Given the description of an element on the screen output the (x, y) to click on. 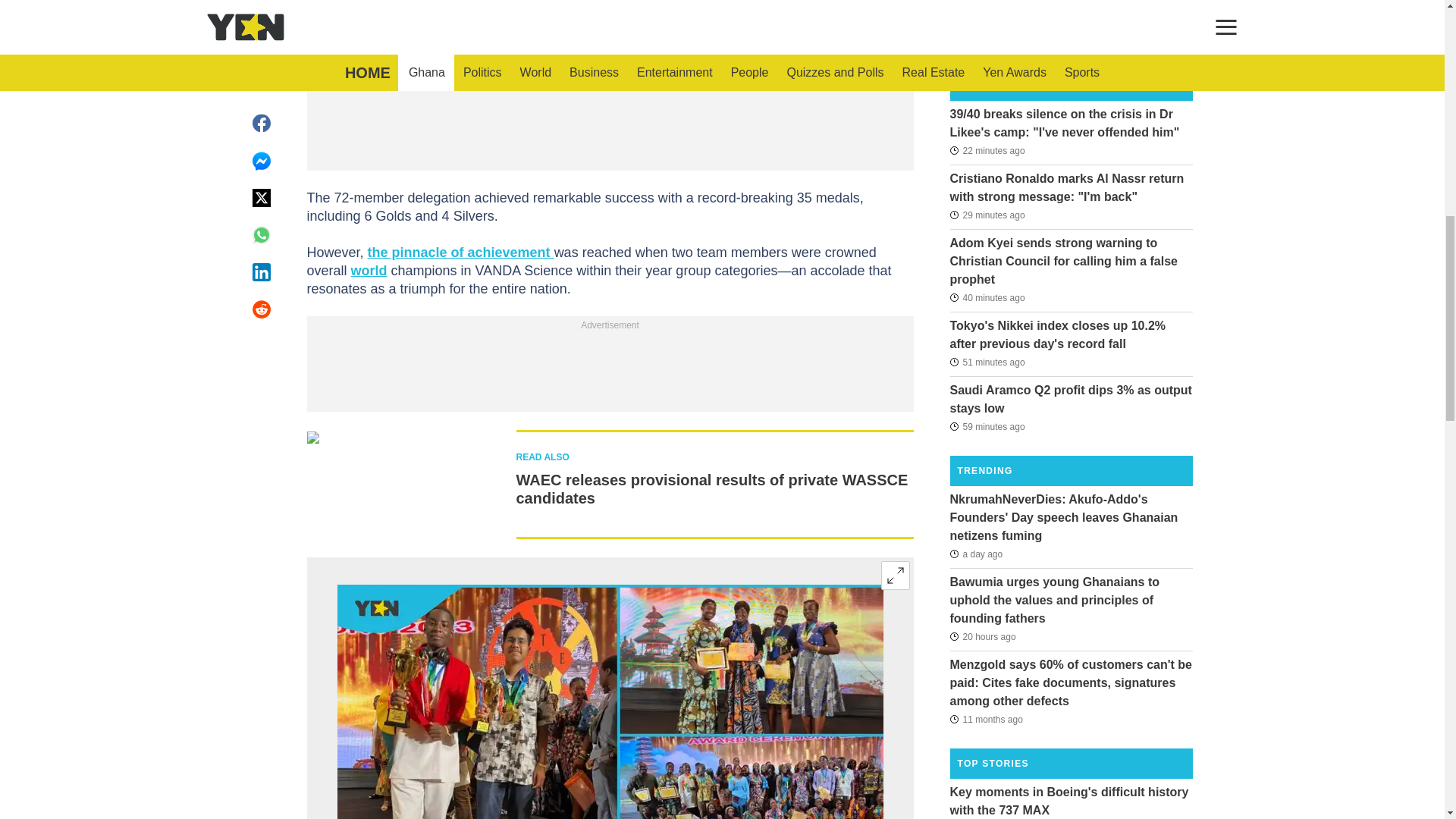
Ghana at Steam Ahead 2023 (609, 701)
2024-08-06T06:26:03Z (987, 361)
2024-08-04T08:32:12Z (976, 553)
2023-08-11T10:47:03Z (985, 719)
2024-08-06T06:37:38Z (987, 297)
2024-08-06T06:48:22Z (987, 215)
2024-08-05T10:48:02Z (981, 637)
2024-08-06T06:18:03Z (987, 425)
Expand image (895, 575)
2024-08-06T06:55:52Z (987, 149)
